Given the description of an element on the screen output the (x, y) to click on. 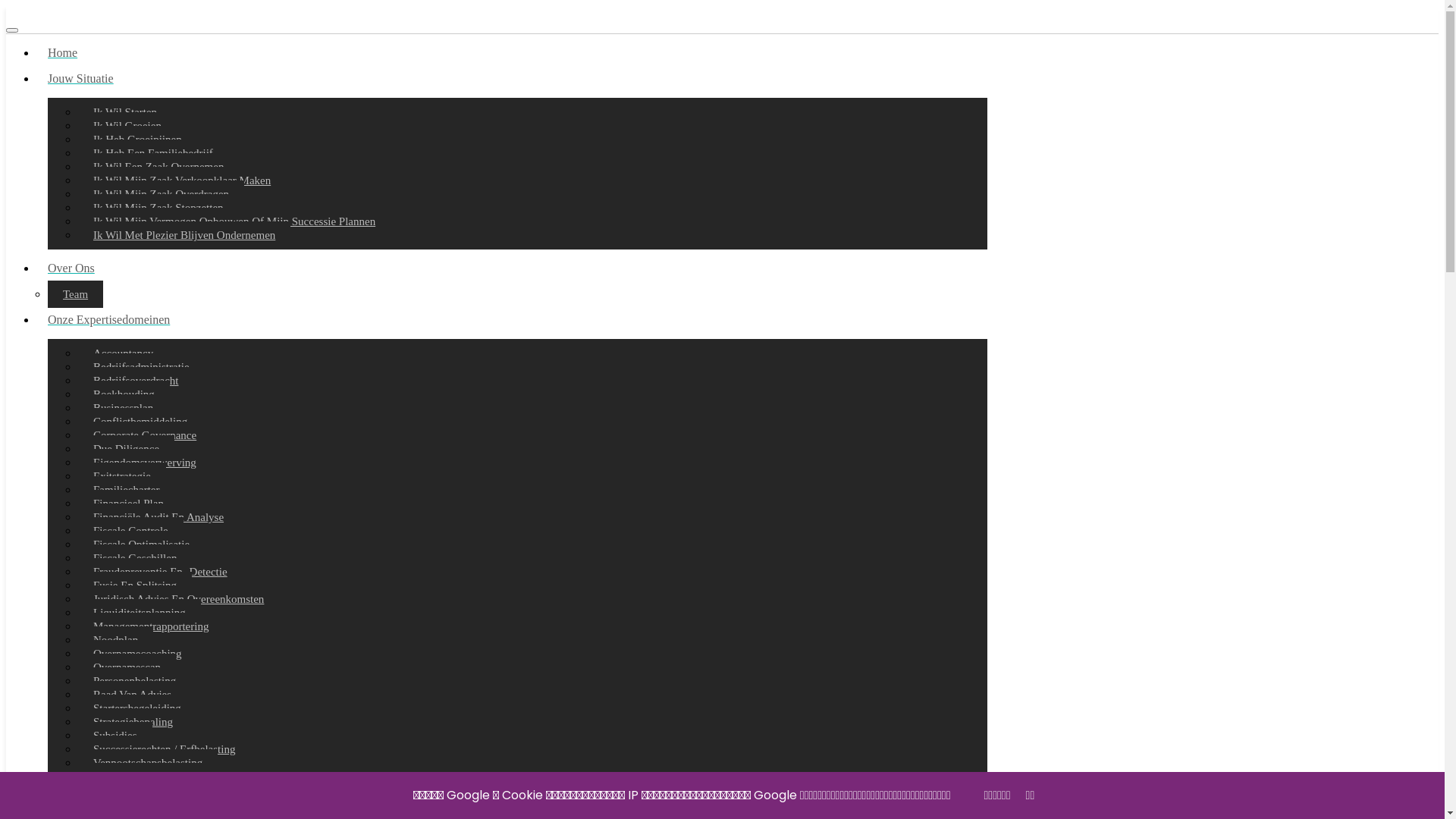
Winst- En Kostprijsberekening Element type: text (163, 803)
Ik Wil Starten Element type: text (125, 111)
Due Diligence Element type: text (126, 448)
Overnamecoaching Element type: text (137, 653)
Ik Wil Groeien Element type: text (127, 125)
Over Ons Element type: text (517, 268)
Ik Wil Mijn Zaak Stopzetten Element type: text (158, 207)
Strategiebepaling Element type: text (133, 721)
Ik Heb Groeipijnen Element type: text (137, 139)
Accountancy Element type: text (123, 353)
Startersbegeleiding Element type: text (137, 707)
Ik Heb Een Familiebedrijf Element type: text (153, 152)
Overnamescan Element type: text (126, 666)
Verbindende Communicatie Element type: text (156, 776)
Ik Wil Mijn Vermogen Opbouwen Of Mijn Successie Plannen Element type: text (234, 221)
Noodplan Element type: text (115, 639)
Familiecharter Element type: text (126, 489)
Fiscale Optimalisatie Element type: text (141, 544)
Bedrijfsoverdracht Element type: text (135, 380)
Corporate Governance Element type: text (144, 434)
Vennootschapsbelasting Element type: text (147, 762)
Raad Van Advies Element type: text (132, 694)
Juridisch Advies En Overeenkomsten Element type: text (178, 598)
Fiscale Geschillen Element type: text (134, 557)
Jouw Situatie Element type: text (517, 78)
Ik Wil Een Zaak Overnemen Element type: text (158, 166)
Successierechten / Erfbelasting Element type: text (164, 748)
Ik Wil Met Plezier Blijven Ondernemen Element type: text (184, 234)
Ik Wil Mijn Zaak Overdragen Element type: text (161, 193)
Subsidies Element type: text (115, 735)
Fraudepreventie En -Detectie Element type: text (160, 571)
Financieel Plan Element type: text (128, 503)
Bedrijfsadministratie Element type: text (141, 366)
Managementrapportering Element type: text (150, 626)
Exitstrategie Element type: text (122, 475)
Boekhouding Element type: text (123, 393)
Ik Wil Mijn Zaak Verkoopklaar Maken Element type: text (181, 180)
Businessplan Element type: text (123, 407)
Conflictbemiddeling Element type: text (140, 421)
Team Element type: text (75, 293)
Fiscale Controle Element type: text (130, 530)
Fusie En Splitsing Element type: text (134, 585)
Home Element type: text (517, 52)
Eigendomsverwerving Element type: text (144, 462)
Onze Expertisedomeinen Element type: text (517, 319)
Liquiditeitsplanning Element type: text (139, 612)
Personenbelasting Element type: text (134, 680)
Waardebepaling Bedrijf Element type: text (147, 789)
